Given the description of an element on the screen output the (x, y) to click on. 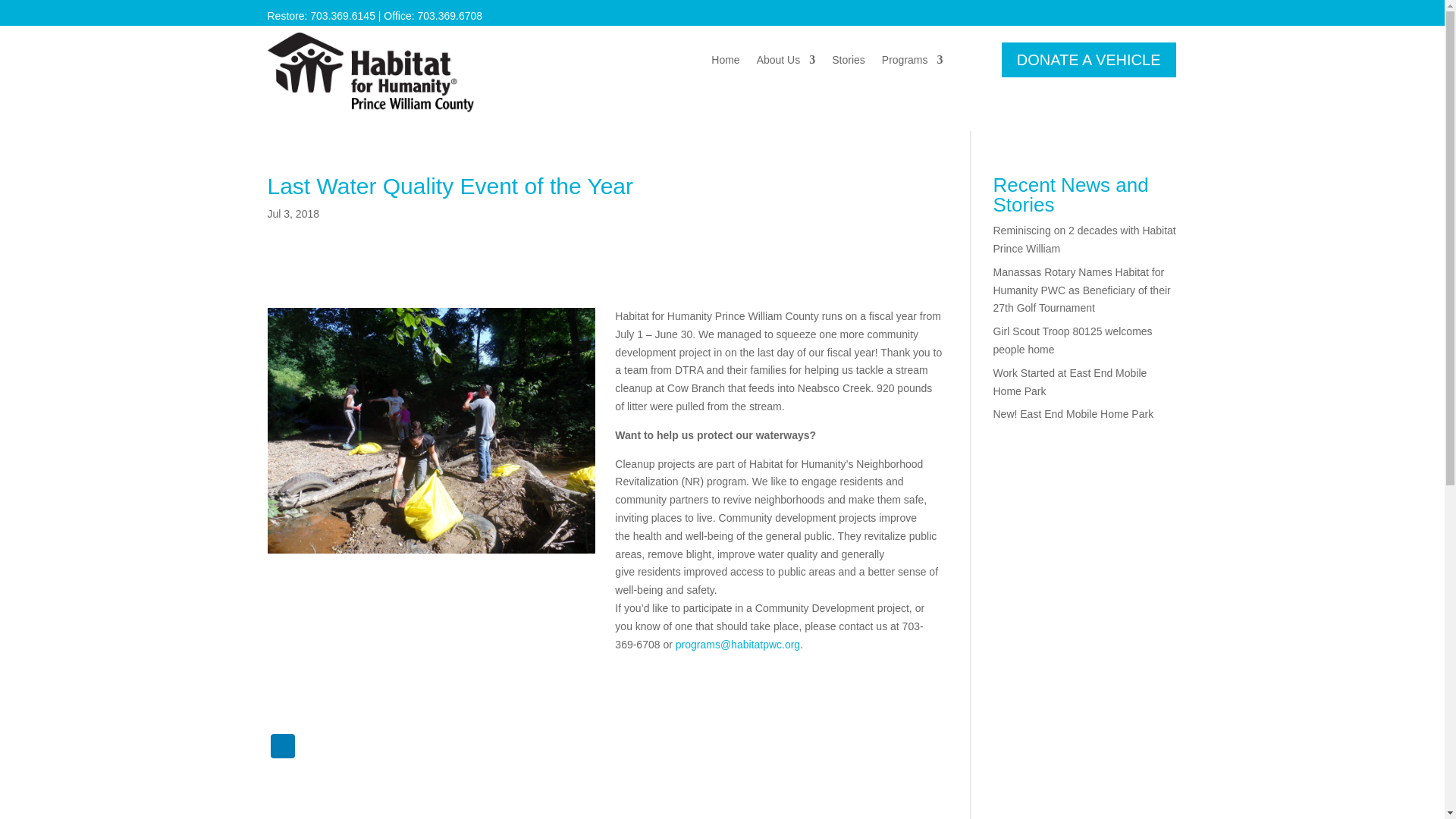
Programs (912, 62)
LinkedIn (281, 747)
Home (725, 62)
DONATE A VEHICLE (1088, 59)
habitat-for-humanity-pwc (370, 72)
Stories (847, 62)
About Us (786, 62)
